Given the description of an element on the screen output the (x, y) to click on. 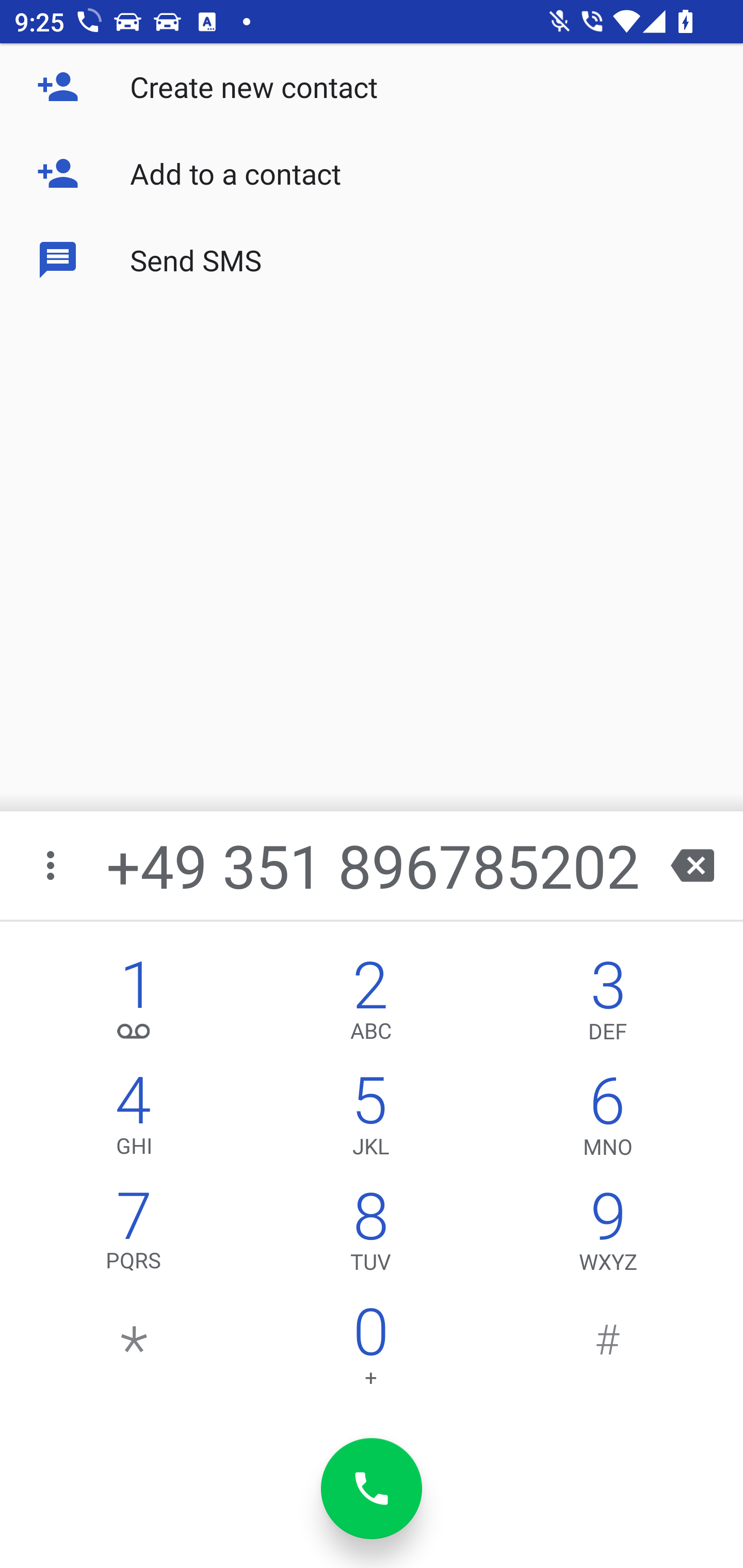
Create new contact (371, 86)
Add to a contact (371, 173)
Send SMS (371, 259)
+49 351 896785202 (372, 865)
backspace (692, 865)
More options (52, 865)
1, 1 (133, 1005)
2,ABC 2 ABC (370, 1005)
3,DEF 3 DEF (607, 1005)
4,GHI 4 GHI (133, 1120)
5,JKL 5 JKL (370, 1120)
6,MNO 6 MNO (607, 1120)
7,PQRS 7 PQRS (133, 1235)
8,TUV 8 TUV (370, 1235)
9,WXYZ 9 WXYZ (607, 1235)
* (133, 1351)
0 0 + (370, 1351)
# (607, 1351)
dial (371, 1488)
